Given the description of an element on the screen output the (x, y) to click on. 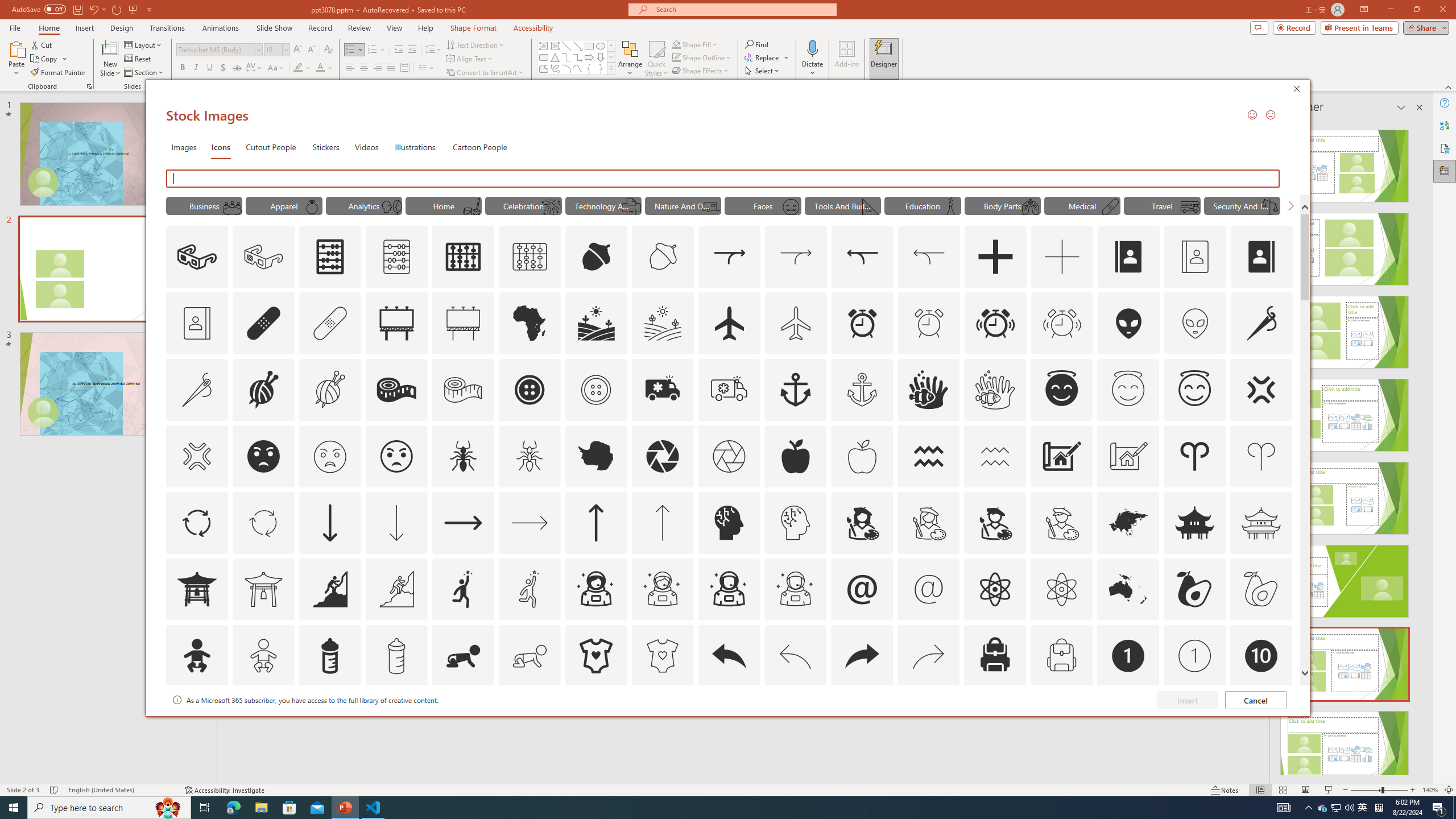
AutomationID: Icons_ArrowCircle (196, 522)
AutomationID: Icons_Ambulance (662, 389)
Send a Smile (1251, 114)
Vertical Text Box (554, 45)
Oval (600, 45)
Quick Styles (656, 58)
Shape Effects (700, 69)
AutomationID: ShapesInsertGallery (576, 57)
AutomationID: Icons_AlarmRinging (995, 323)
AutomationID: Icons_Aperture (662, 455)
